Given the description of an element on the screen output the (x, y) to click on. 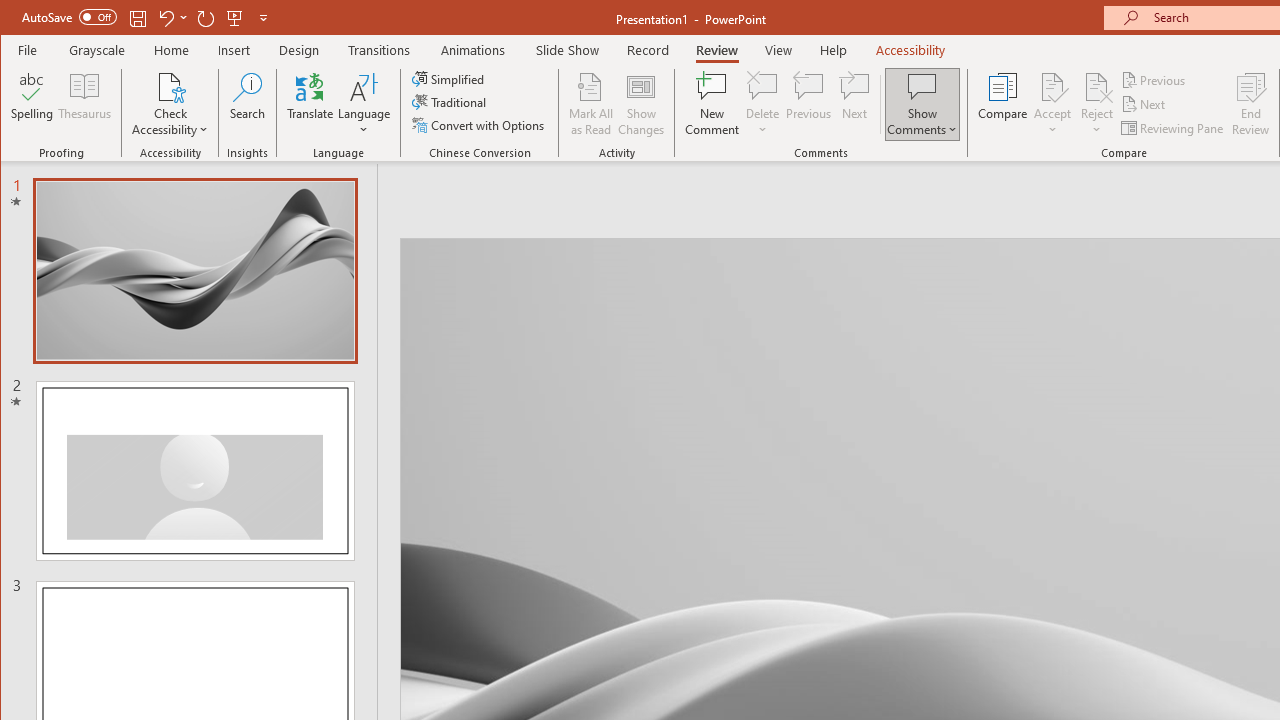
System (18, 18)
Delete (762, 104)
Undo (165, 17)
Slide (195, 471)
Customize Quick Access Toolbar (263, 17)
Slide Show (567, 50)
File Tab (28, 49)
Redo (206, 17)
Reviewing Pane (1173, 127)
Accept (1052, 104)
AutoSave (68, 16)
Compare (1002, 104)
System (18, 18)
Quick Access Toolbar (146, 17)
Language (363, 104)
